Given the description of an element on the screen output the (x, y) to click on. 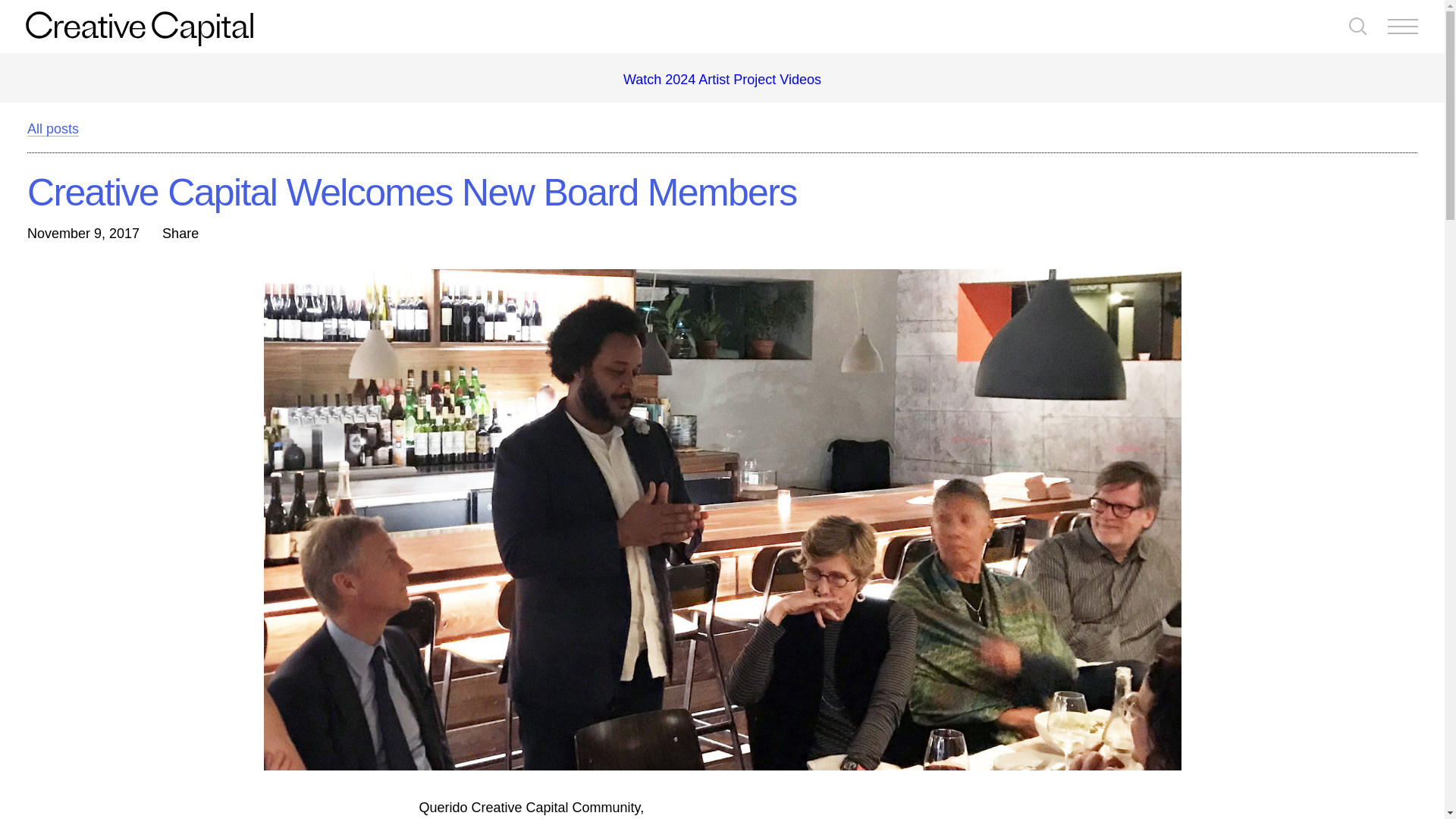
Watch 2024 Artist Project Videos (722, 79)
All posts (52, 128)
Search (1356, 26)
Menu (1402, 26)
